Given the description of an element on the screen output the (x, y) to click on. 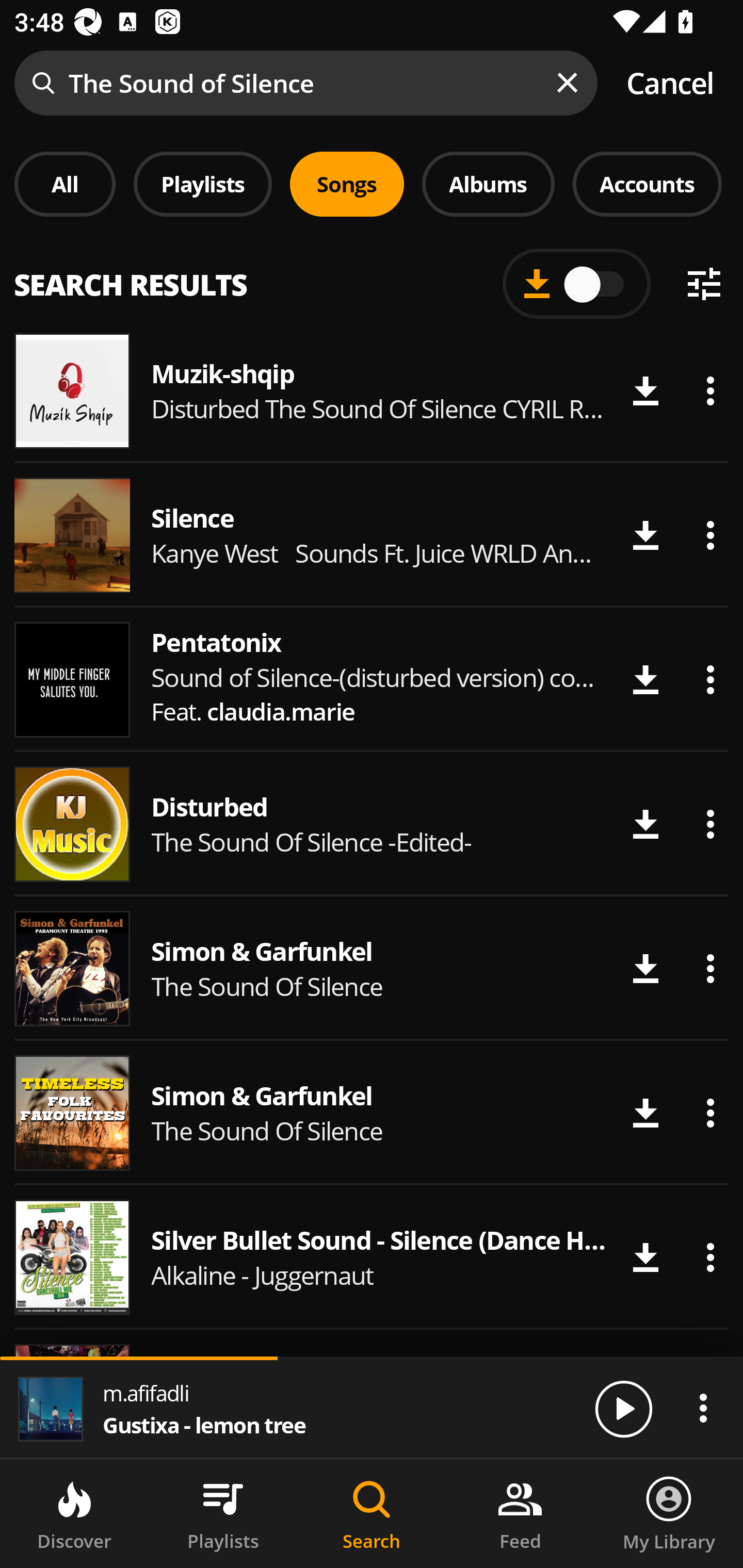
The Sound of Silence Cancel (371, 82)
Cancel (670, 82)
All (64, 184)
Playlists (202, 184)
Songs (346, 184)
Albums (488, 184)
Accounts (647, 184)
All Country Afrosounds Pop Caribbean (371, 275)
Pop (529, 288)
Download (644, 391)
Actions (710, 391)
Download (644, 535)
Actions (710, 535)
Download (644, 679)
Actions (710, 679)
Download (644, 823)
Actions (710, 823)
Download (644, 968)
Actions (710, 968)
Download (644, 1113)
Actions (710, 1113)
Download (644, 1257)
Actions (710, 1257)
Actions (703, 1407)
Play/Pause (623, 1408)
Discover (74, 1513)
Playlists (222, 1513)
Search (371, 1513)
Feed (519, 1513)
My Library (668, 1513)
